Given the description of an element on the screen output the (x, y) to click on. 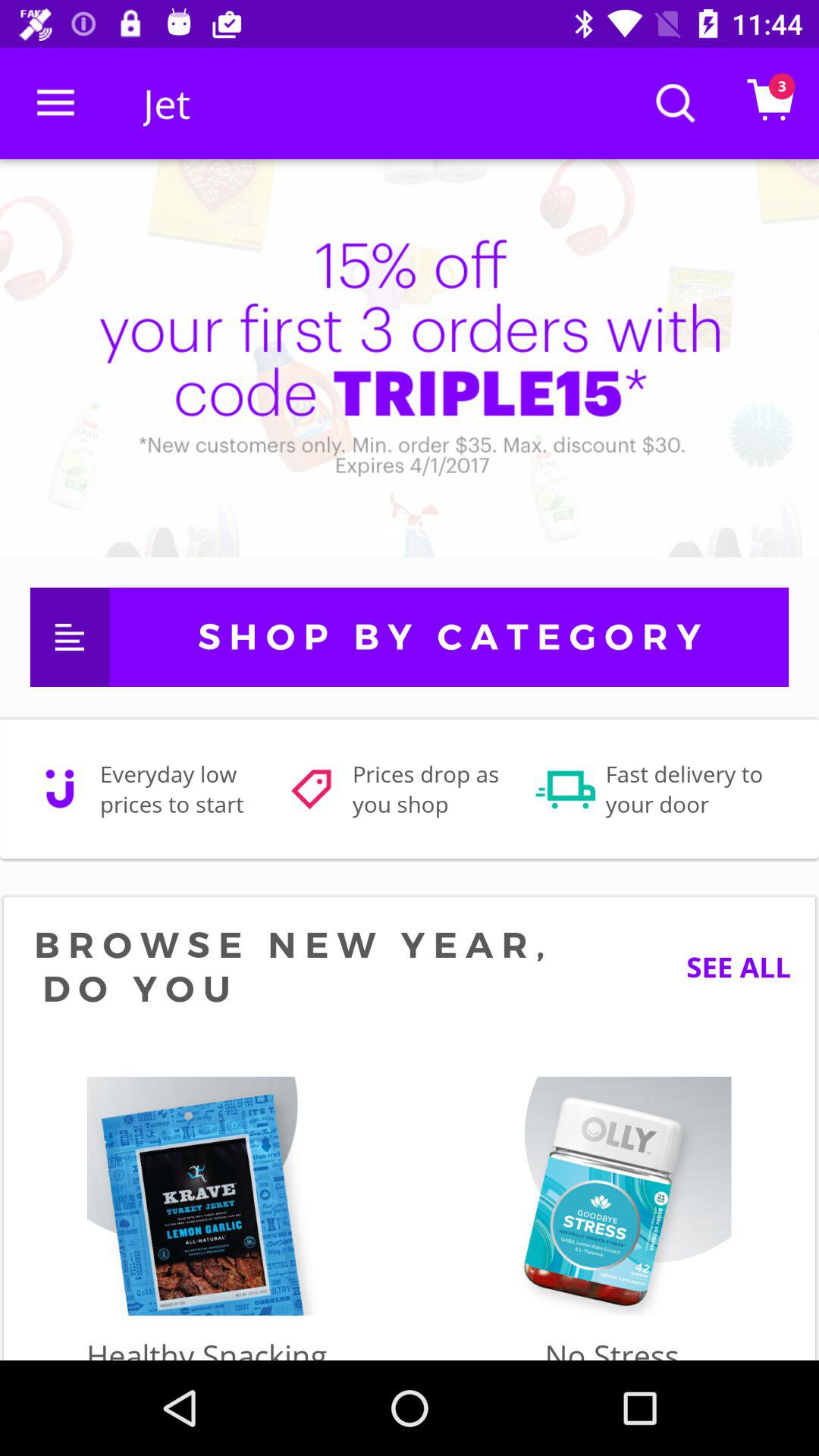
turn on the see all icon (727, 966)
